Given the description of an element on the screen output the (x, y) to click on. 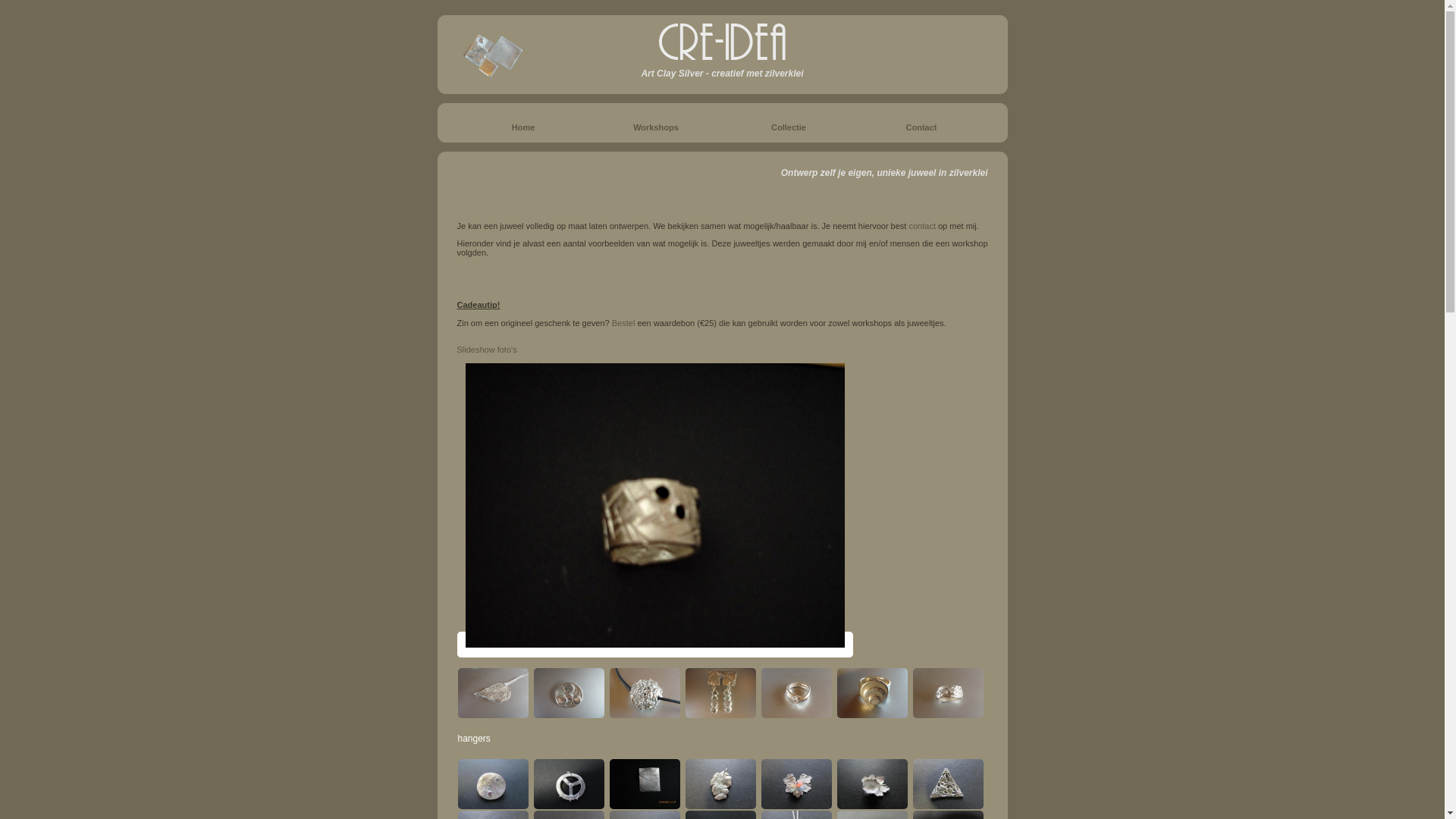
Contact Element type: text (921, 126)
contact Element type: text (921, 225)
Slideshow foto's Element type: text (486, 349)
Bestel Element type: text (623, 322)
Home Element type: text (523, 126)
Collectie Element type: text (788, 126)
Workshops Element type: text (655, 126)
